Given the description of an element on the screen output the (x, y) to click on. 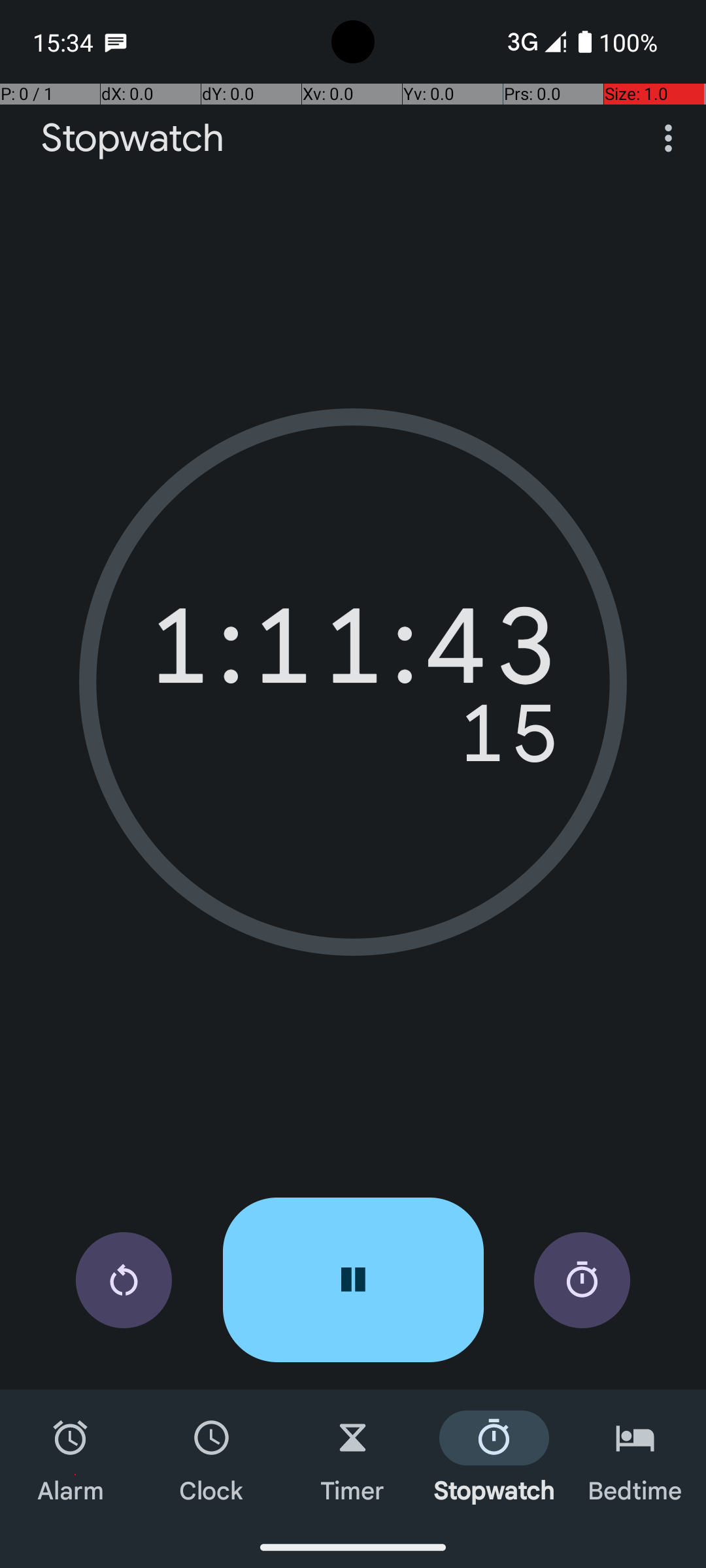
Pause Element type: android.widget.Button (352, 1279)
Lap Element type: android.widget.ImageButton (582, 1280)
1:11:39 Element type: android.widget.TextView (352, 652)
SMS Messenger notification: Matteo Ibrahim Element type: android.widget.ImageView (115, 41)
